Given the description of an element on the screen output the (x, y) to click on. 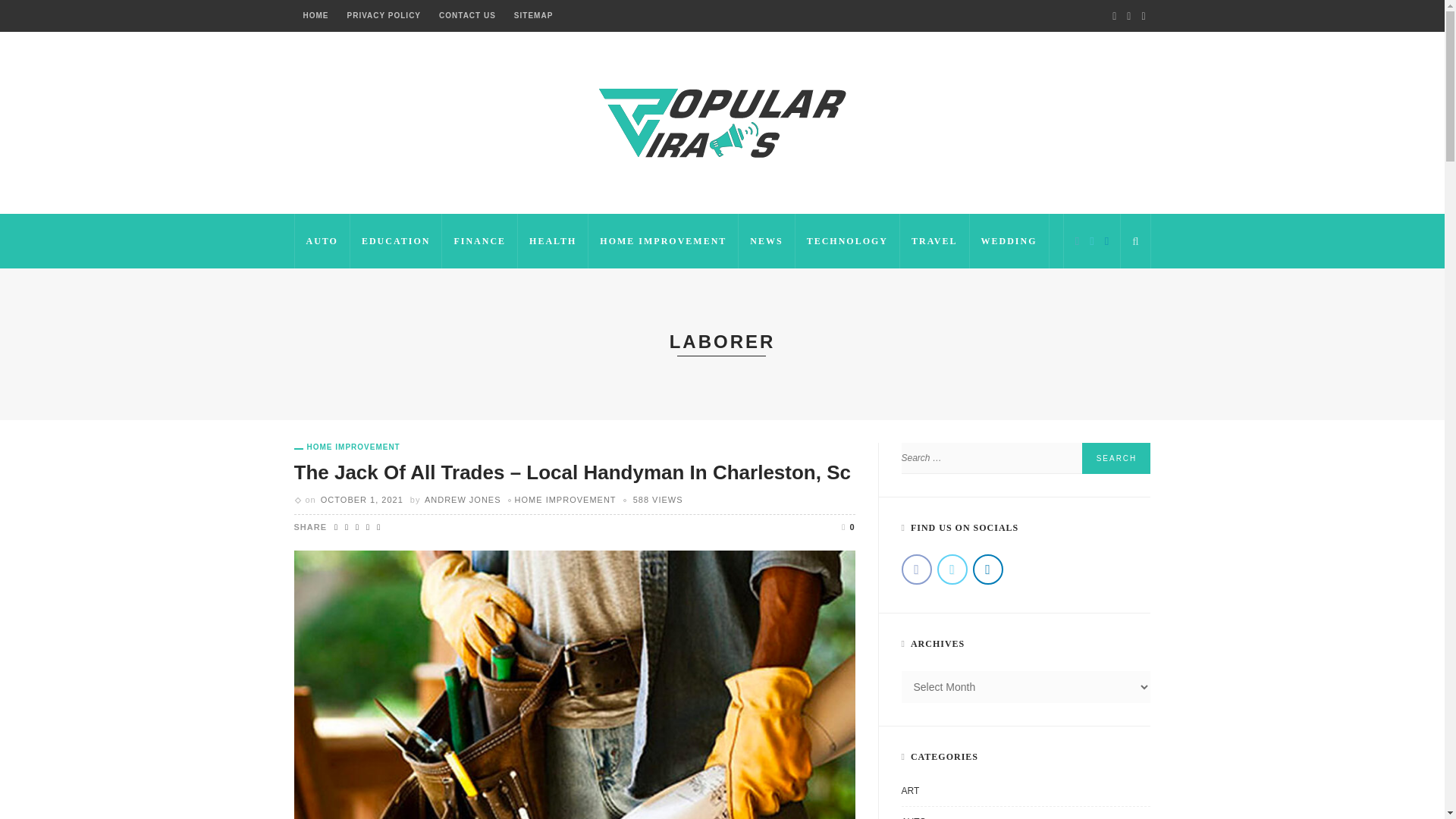
Search (1135, 240)
LinkedIn (1106, 240)
Popular Virals (722, 121)
Facebook (1077, 240)
Twitter (1128, 15)
Home Improvement (565, 499)
Home Improvement (347, 447)
Twitter (1091, 240)
Facebook (1113, 15)
Search (1115, 458)
Search (1115, 458)
LinkedIn (1142, 15)
